Given the description of an element on the screen output the (x, y) to click on. 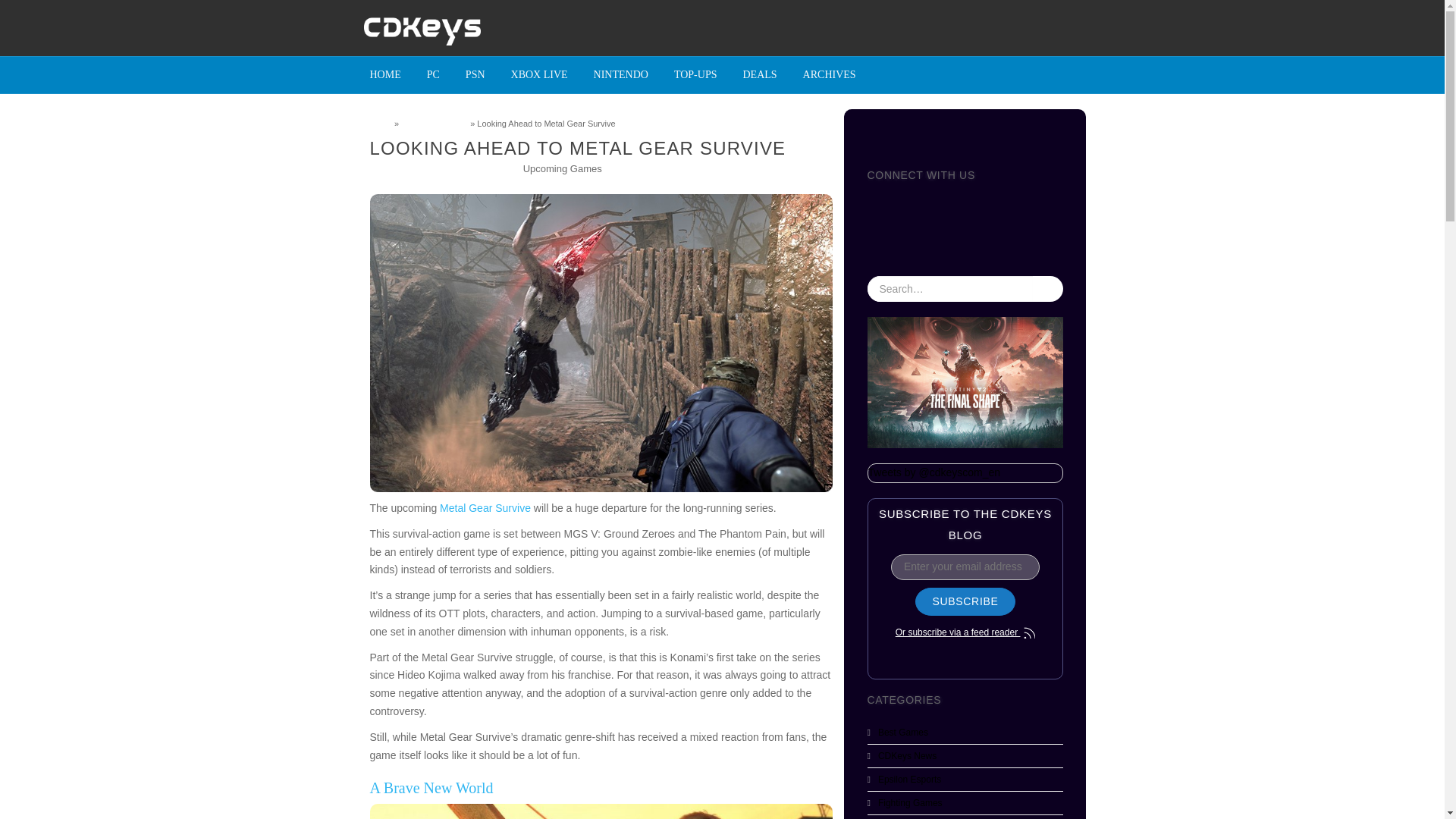
Best Games (902, 732)
XBOX LIVE (539, 74)
Metal Gear Survive (485, 508)
PC (432, 74)
DEALS (758, 74)
Home (380, 122)
Home (385, 74)
PSN (475, 74)
Subscribe (964, 601)
Upcoming Games (562, 168)
NINTENDO (620, 74)
TOP-UPS (695, 74)
Deals (758, 74)
Or subscribe via a feed reader (965, 632)
ARCHIVES (829, 74)
